Given the description of an element on the screen output the (x, y) to click on. 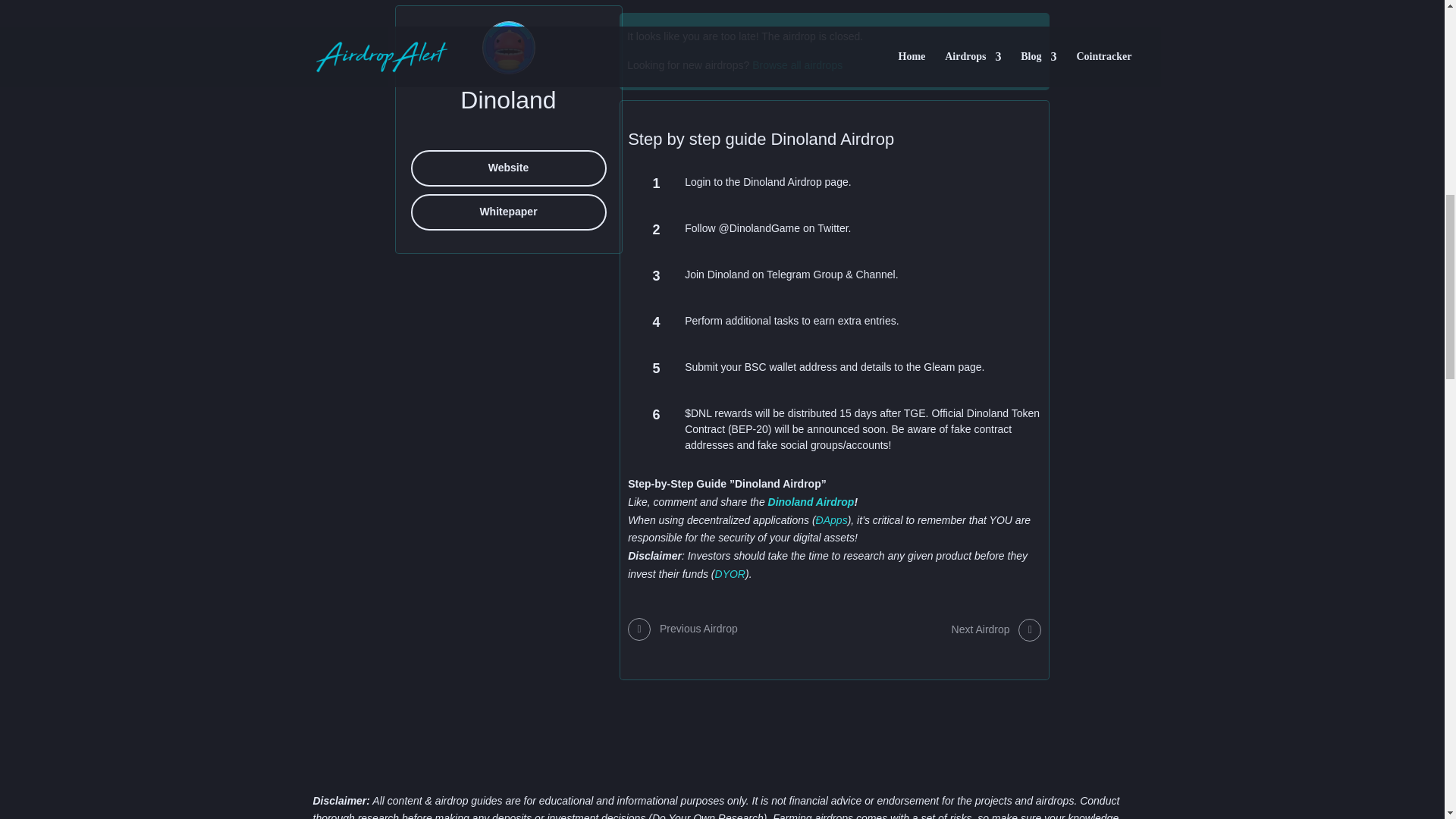
Dinoland Airdrop (811, 501)
Whitepaper (508, 212)
Website (508, 167)
DYOR (729, 573)
Previous Airdrop (682, 629)
Next Airdrop (997, 629)
Browse all airdrops (797, 64)
